Given the description of an element on the screen output the (x, y) to click on. 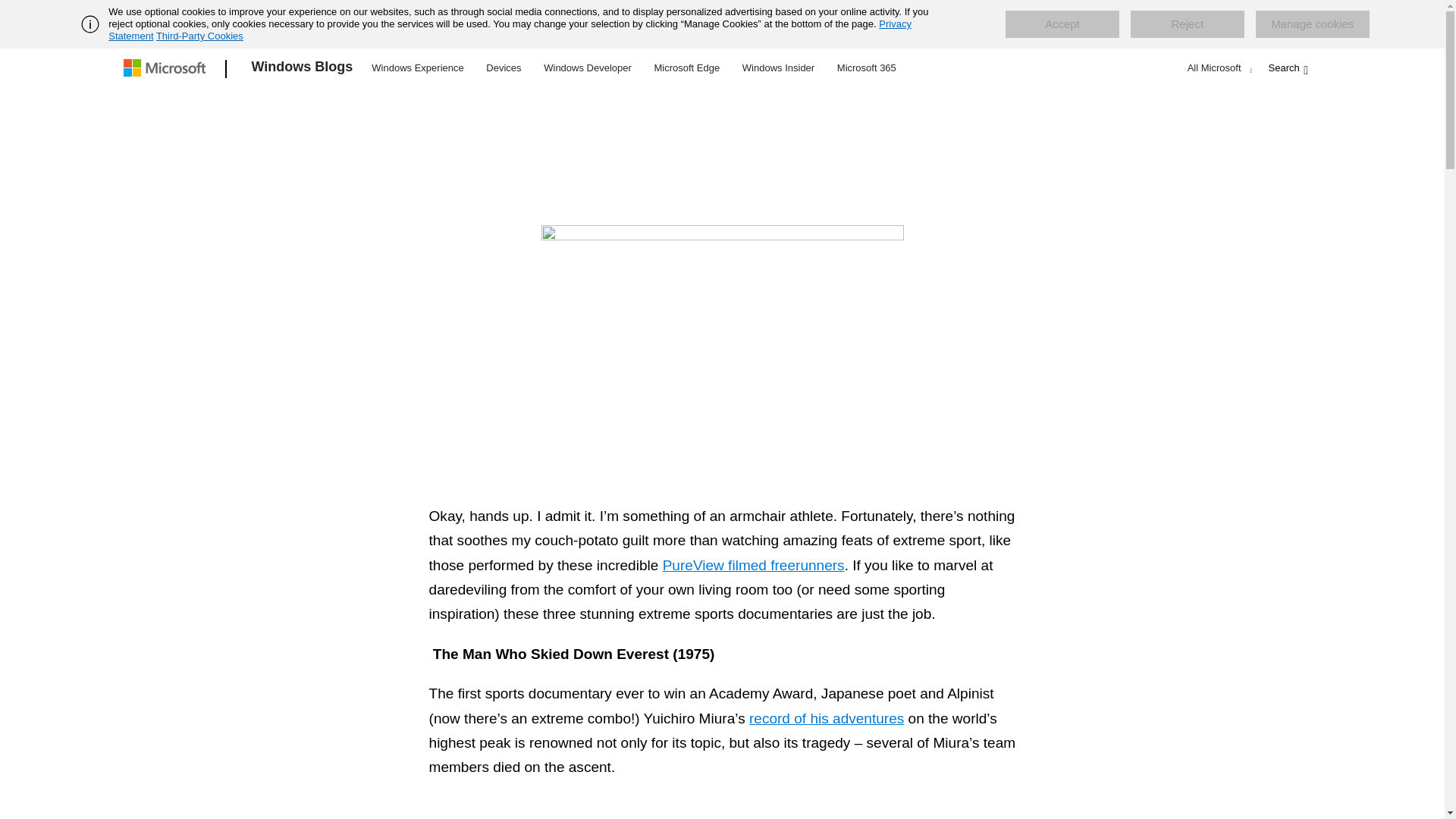
Reject (1187, 23)
Windows Insider (778, 67)
Windows Developer (588, 67)
Third-Party Cookies (199, 35)
Windows Blogs (302, 69)
Manage cookies (1312, 23)
Windows Experience (417, 67)
Privacy Statement (509, 29)
Accept (1062, 23)
Skateboardocumentary (722, 341)
